Given the description of an element on the screen output the (x, y) to click on. 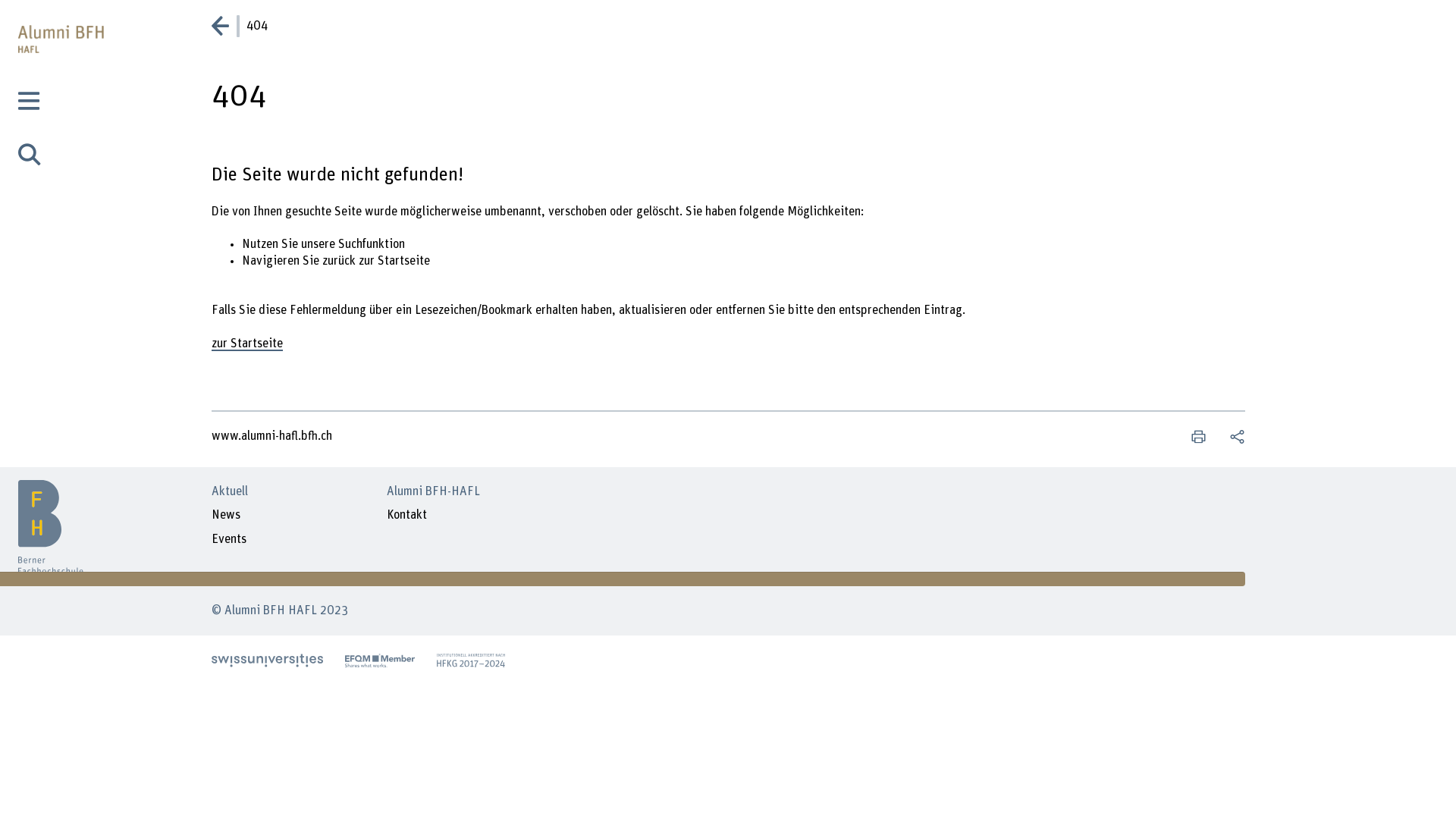
HEdA Element type: hover (470, 660)
EFQM Member Element type: hover (379, 660)
Swissuniversities Element type: hover (266, 660)
News Element type: text (224, 516)
www.alumni-hafl.bfh.ch Element type: text (272, 435)
Kontakt Element type: text (406, 516)
Alumni BFH HAFL Element type: hover (60, 502)
zur Startseite Element type: text (246, 344)
Events Element type: text (227, 539)
